Given the description of an element on the screen output the (x, y) to click on. 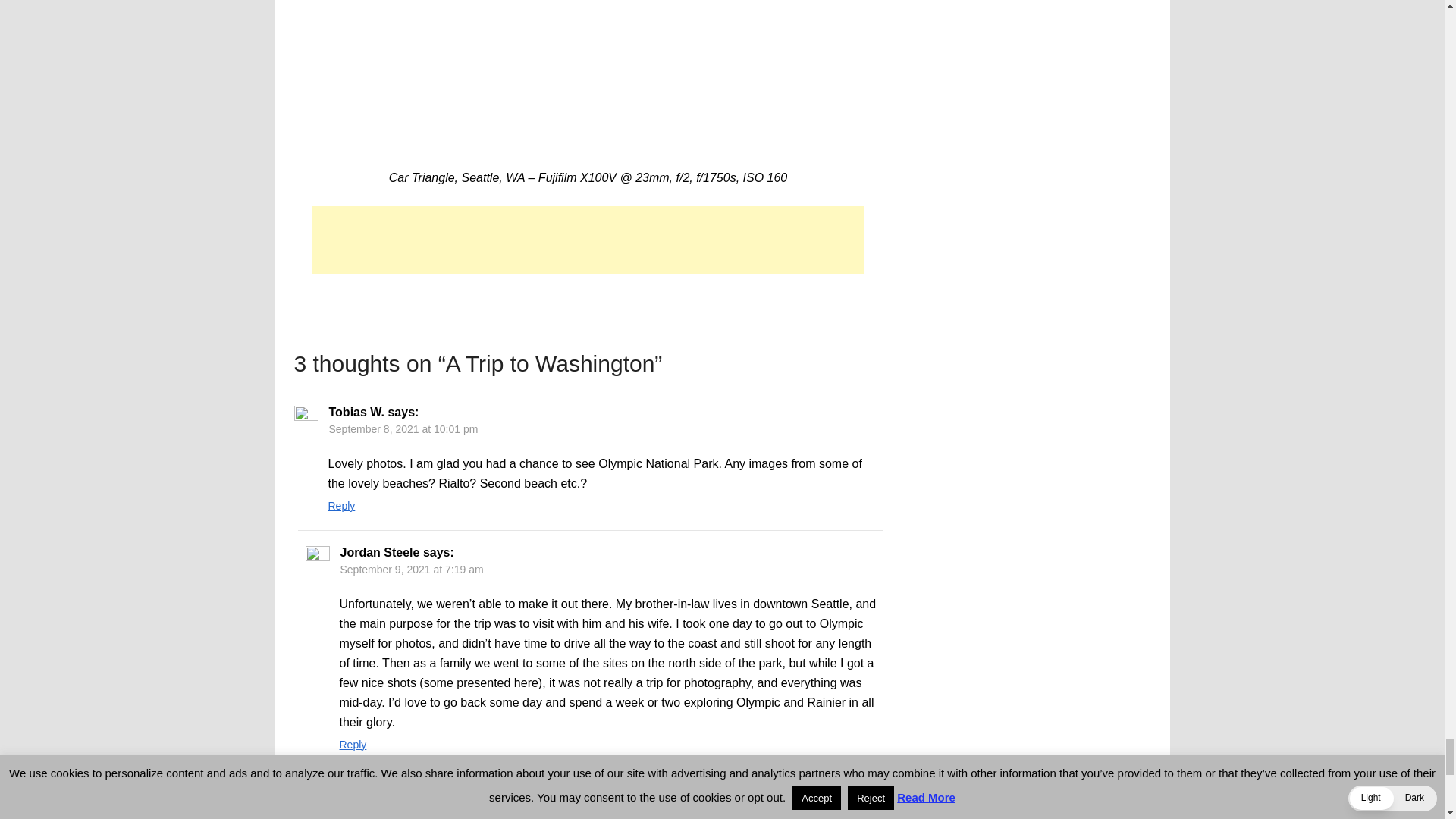
September 8, 2021 at 10:01 pm (404, 428)
September 9, 2021 at 7:19 am (411, 569)
Reply (352, 744)
Reply (341, 505)
